Given the description of an element on the screen output the (x, y) to click on. 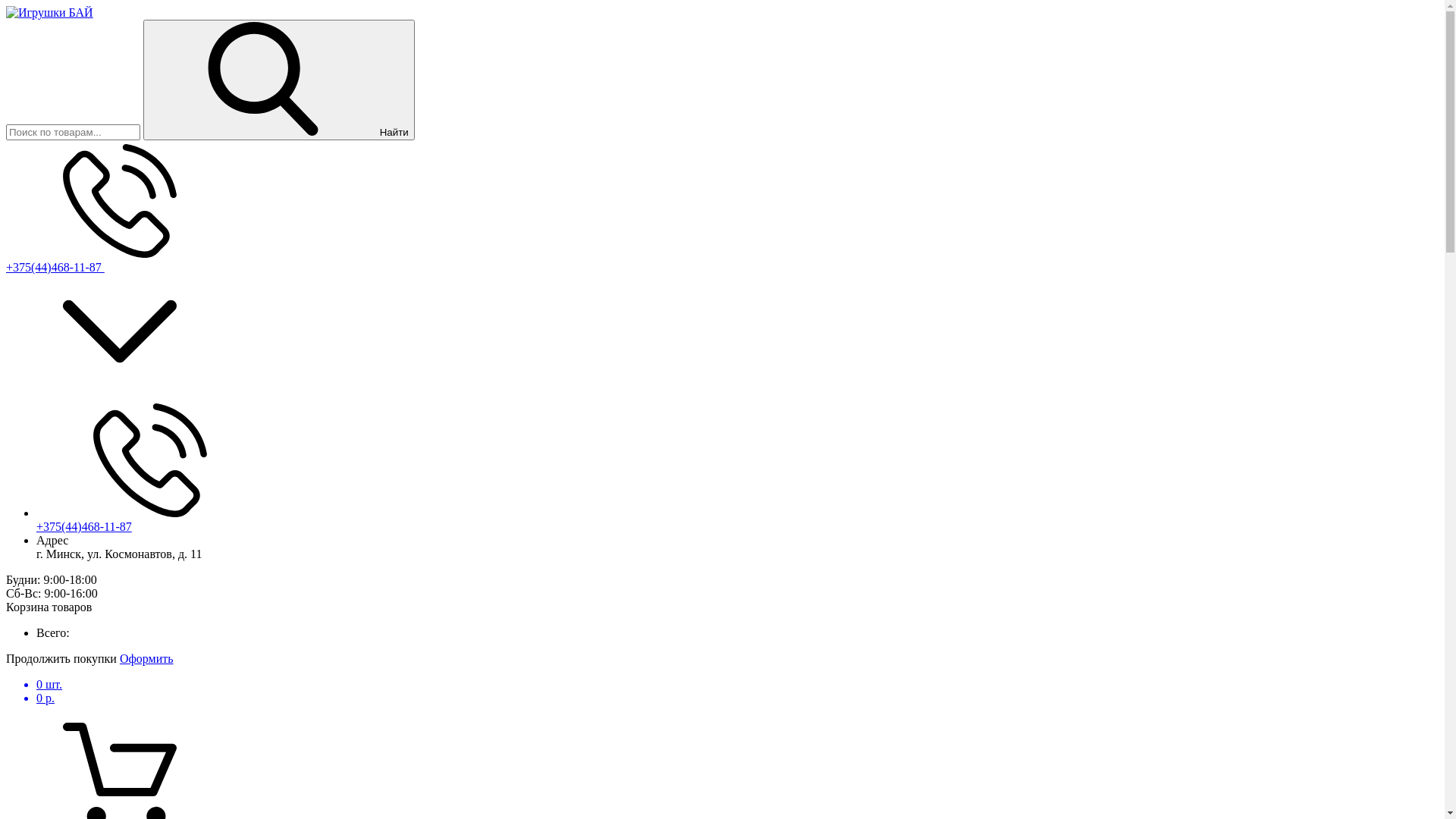
+375(44)468-11-87 Element type: text (83, 526)
+375(44)468-11-87  Element type: text (55, 266)
